Given the description of an element on the screen output the (x, y) to click on. 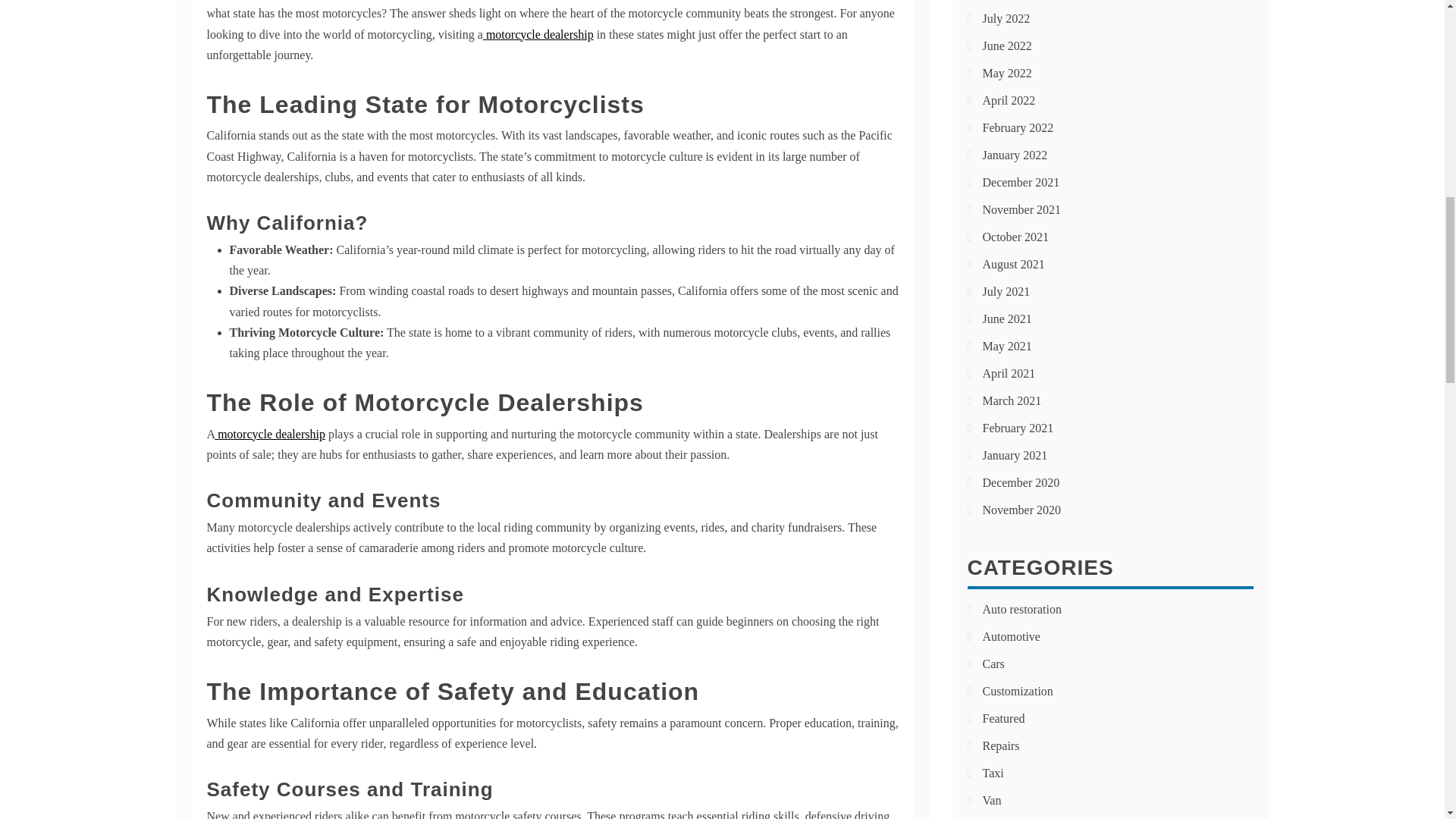
motorcycle dealership (538, 33)
motorcycle dealership (269, 433)
